Given the description of an element on the screen output the (x, y) to click on. 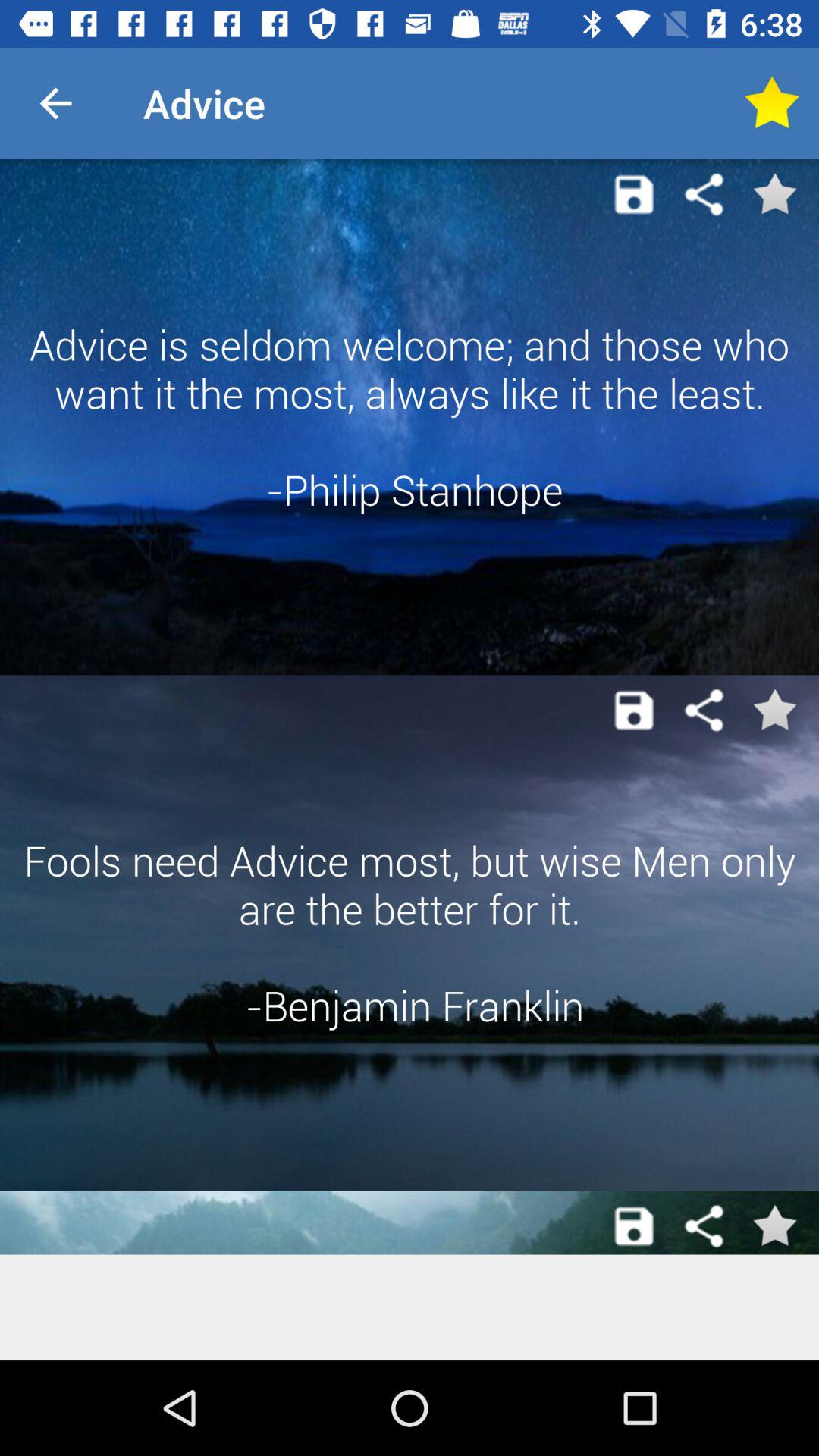
swipe until advice is seldom (409, 416)
